Given the description of an element on the screen output the (x, y) to click on. 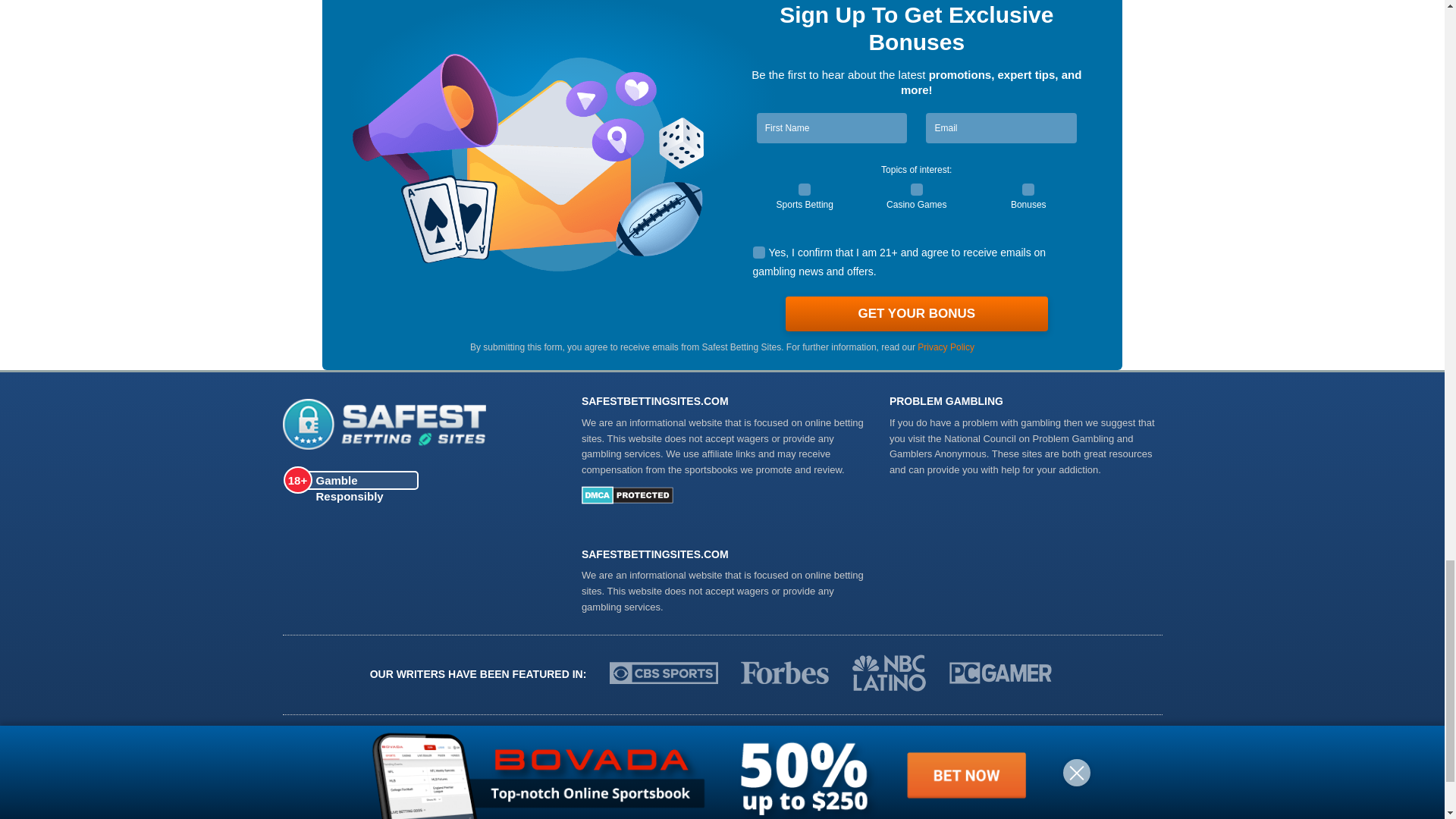
1 (803, 189)
1 (917, 189)
1 (1027, 189)
DMCA.com Protection Status (626, 500)
Get Your Bonus (917, 313)
Safest Betting Sites (424, 426)
Read Our Policy on Privacy (945, 347)
1 (758, 252)
